Given the description of an element on the screen output the (x, y) to click on. 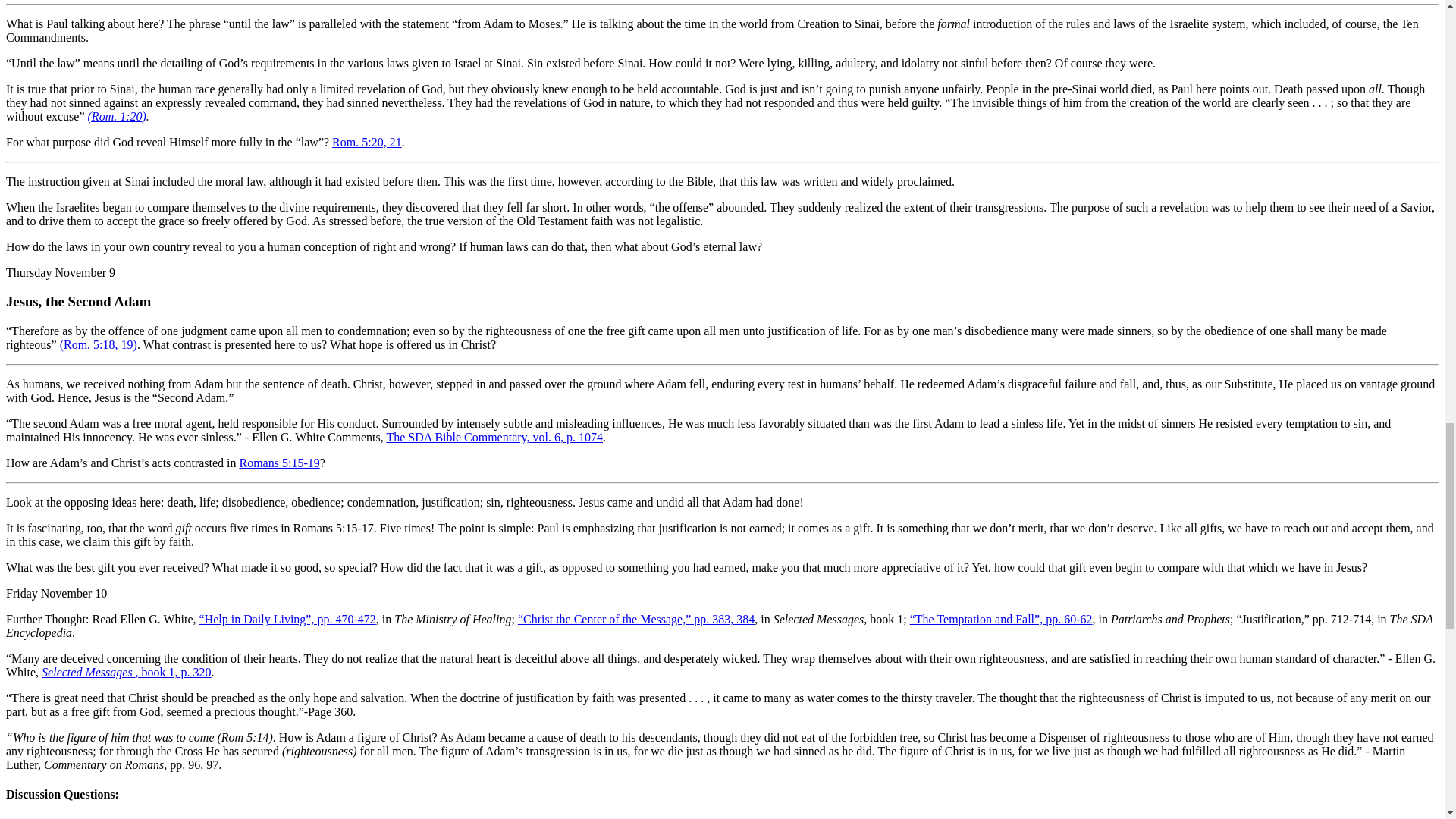
The SDA Bible Commentary, vol. 6, p. 1074 (493, 436)
Romans 5:15-19 (280, 462)
Rom. 5:20, 21 (366, 141)
Selected Messages , book 1, p. 320 (126, 671)
